Given the description of an element on the screen output the (x, y) to click on. 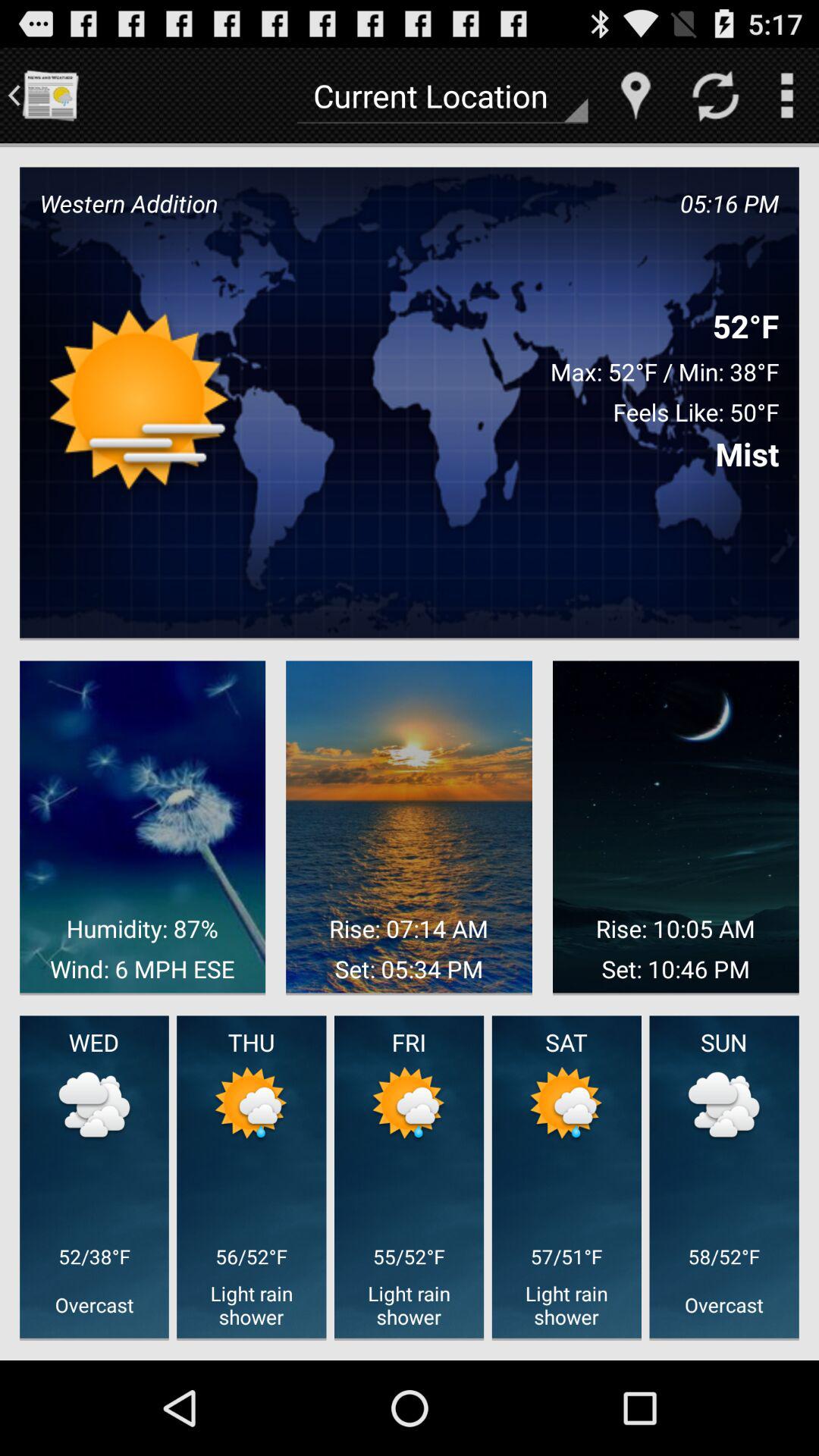
settings button (787, 95)
